Given the description of an element on the screen output the (x, y) to click on. 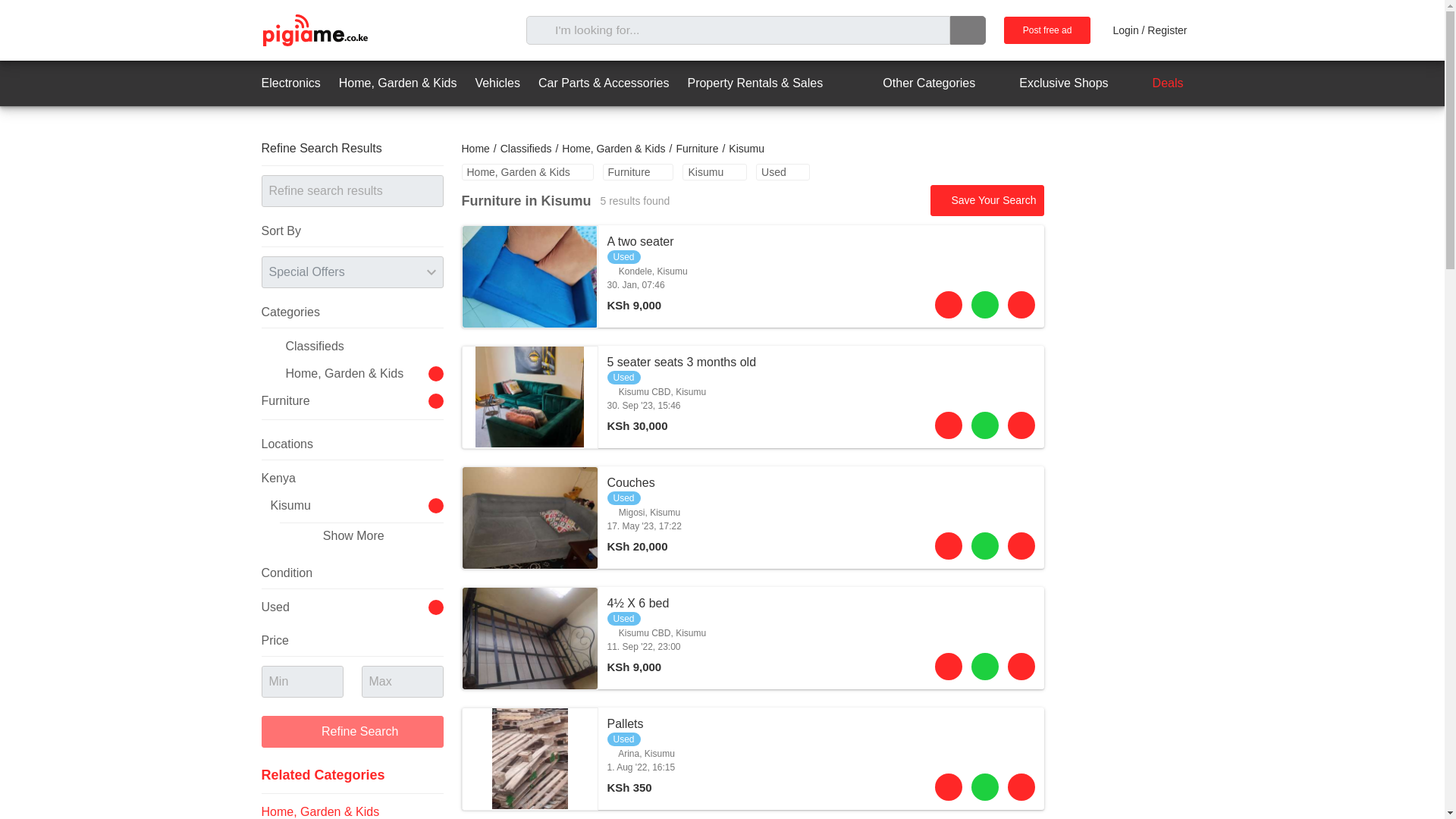
Furniture (752, 517)
Electronics (638, 171)
Home (290, 83)
Furniture (475, 148)
Deals (696, 148)
Kisumu (1155, 83)
Other Categories (714, 171)
Exclusive Shops (915, 83)
Vehicles (1050, 83)
Post free ad (752, 276)
Used (497, 83)
PigiaMe (1047, 30)
